Given the description of an element on the screen output the (x, y) to click on. 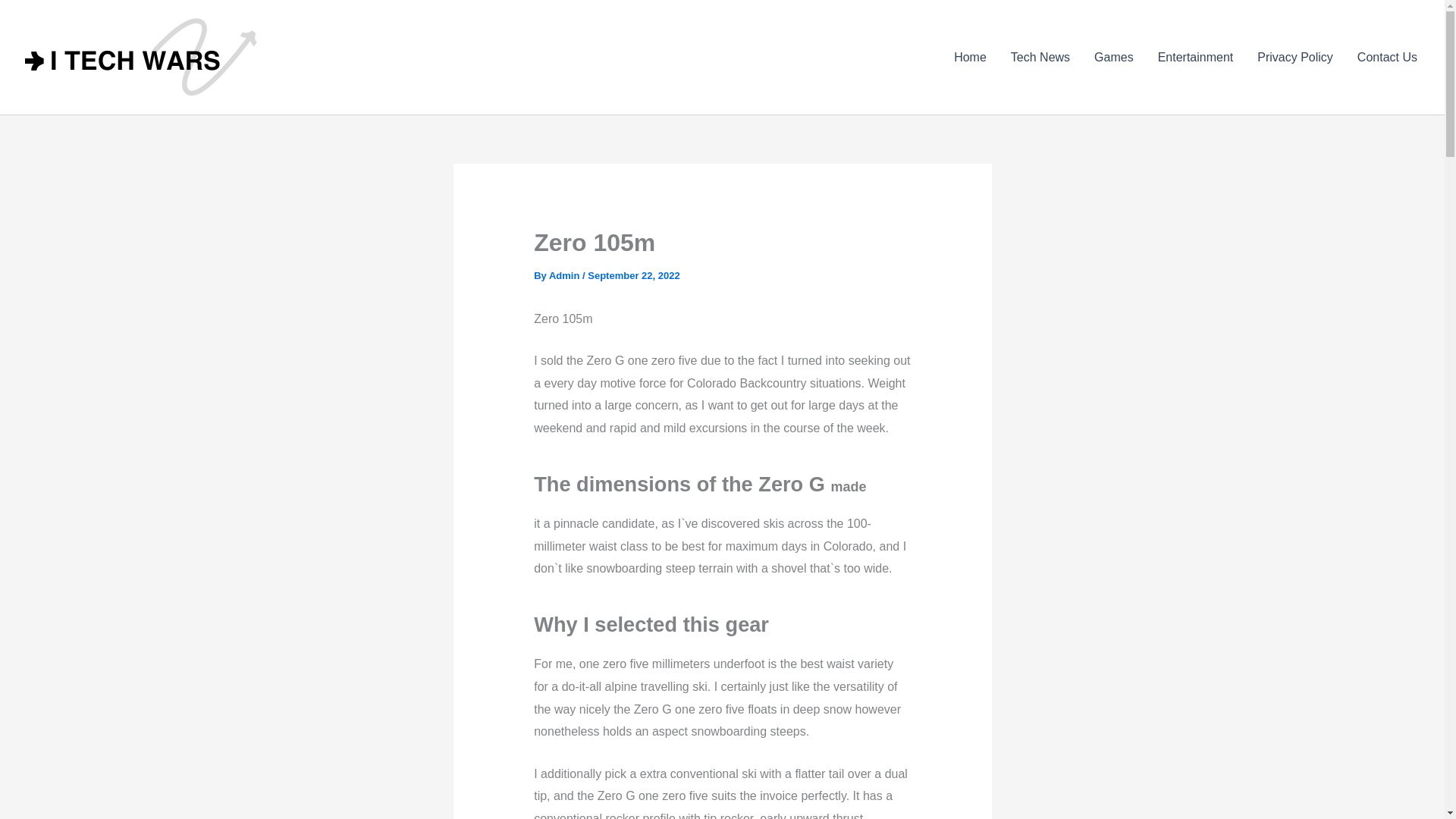
Tech News (1039, 57)
Privacy Policy (1294, 57)
Games (1113, 57)
View all posts by Admin (565, 275)
Entertainment (1195, 57)
Admin (565, 275)
Contact Us (1387, 57)
Home (970, 57)
